Given the description of an element on the screen output the (x, y) to click on. 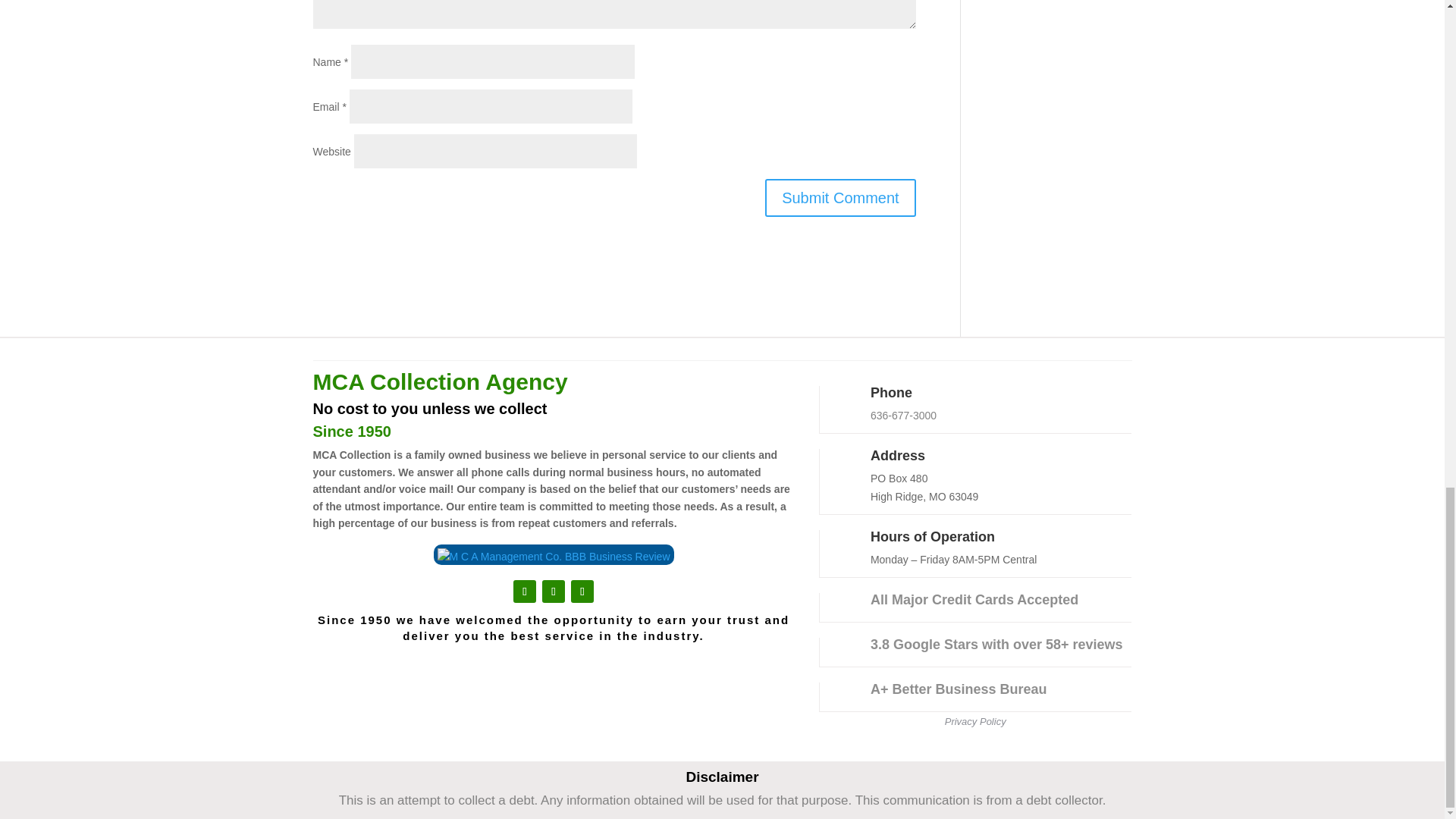
Submit Comment (840, 198)
Follow on LinkedIn (524, 590)
Submit Comment (840, 198)
Follow on Google (582, 590)
All Major Credit Cards Accepted (974, 599)
Follow on Facebook (552, 590)
636-677-3000 (903, 415)
Privacy Policy (975, 721)
